Given the description of an element on the screen output the (x, y) to click on. 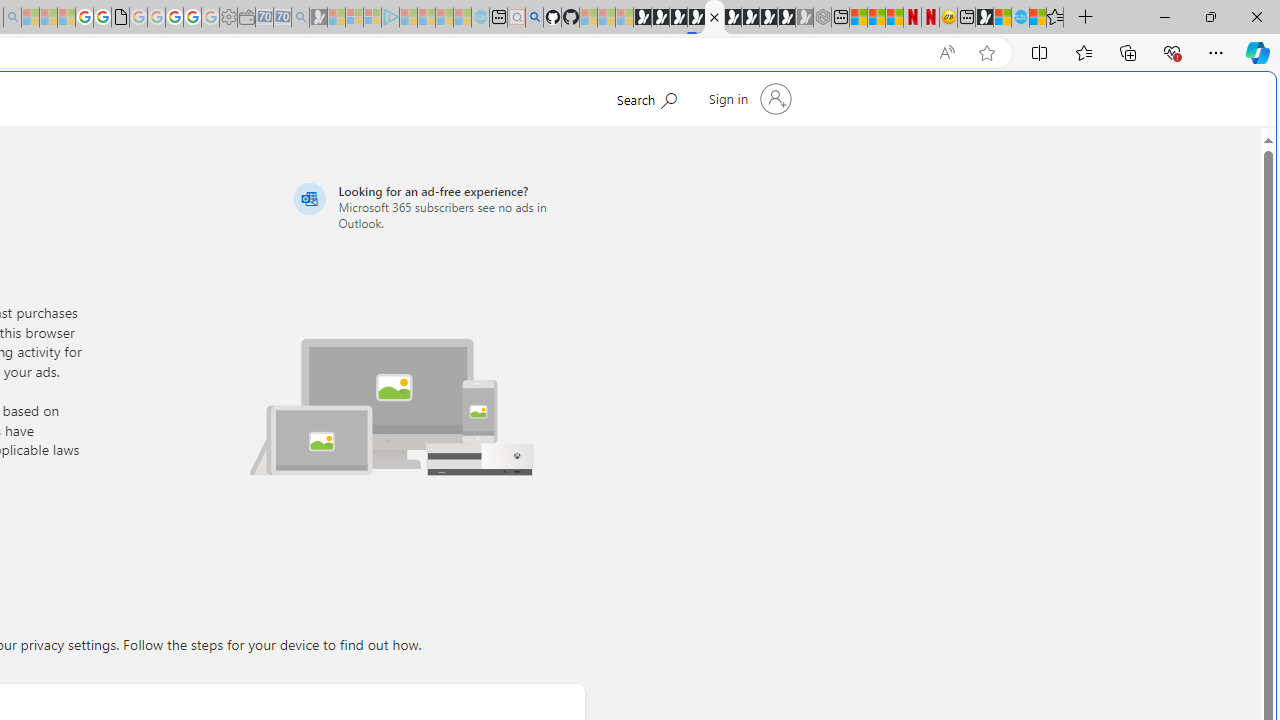
Search or enter web address (343, 191)
Search Microsoft.com (646, 97)
Close split screen (844, 102)
Home | Sky Blue Bikes - Sky Blue Bikes (1020, 17)
Bing Real Estate - Home sales and rental listings - Sleeping (299, 17)
